Given the description of an element on the screen output the (x, y) to click on. 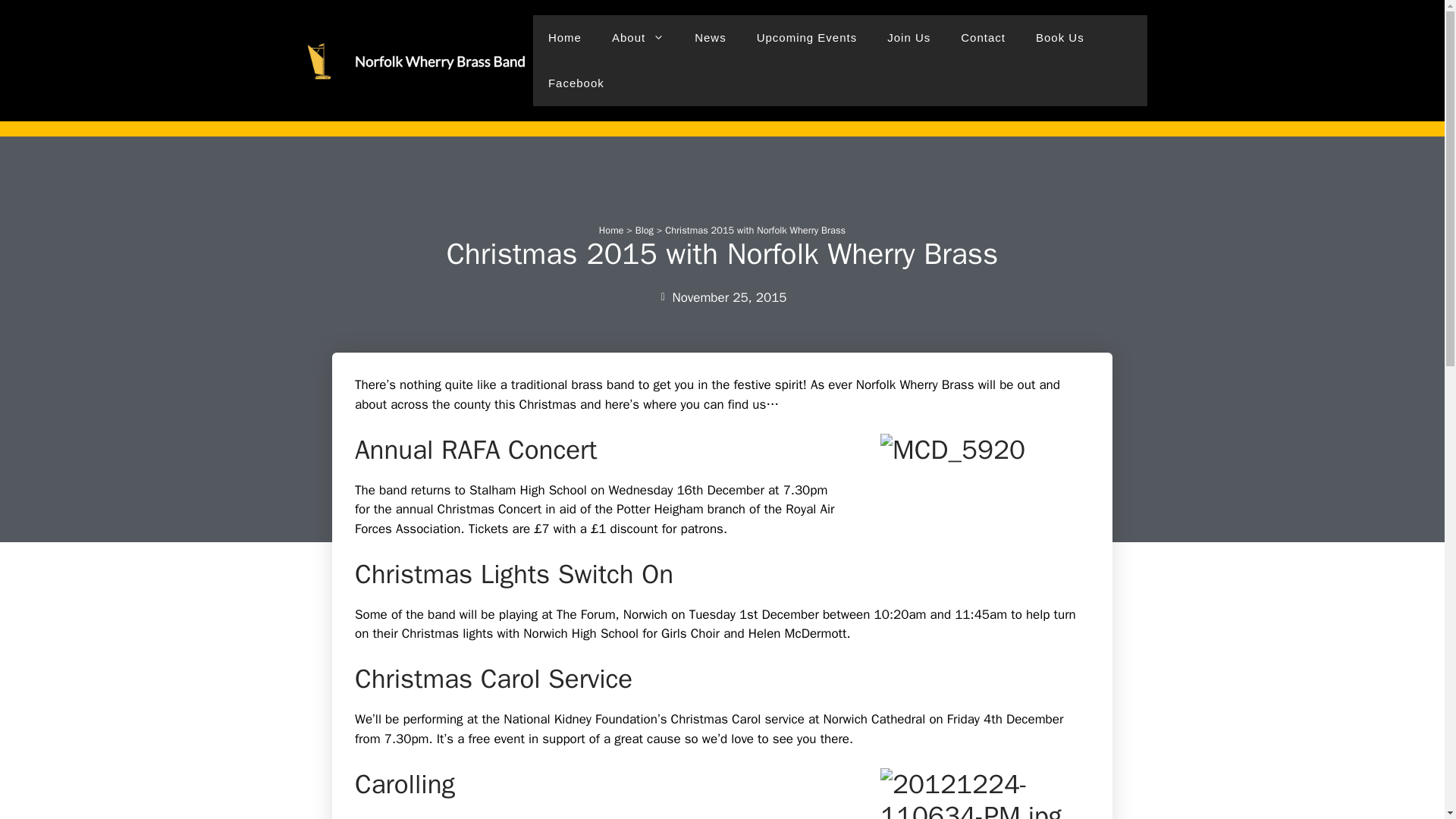
Facebook (576, 83)
About (637, 37)
November 25, 2015 (722, 297)
News (710, 37)
Join Us (908, 37)
Book Us (1059, 37)
Home (611, 230)
Blog (643, 230)
Upcoming Events (806, 37)
Contact (982, 37)
Home (564, 37)
